Given the description of an element on the screen output the (x, y) to click on. 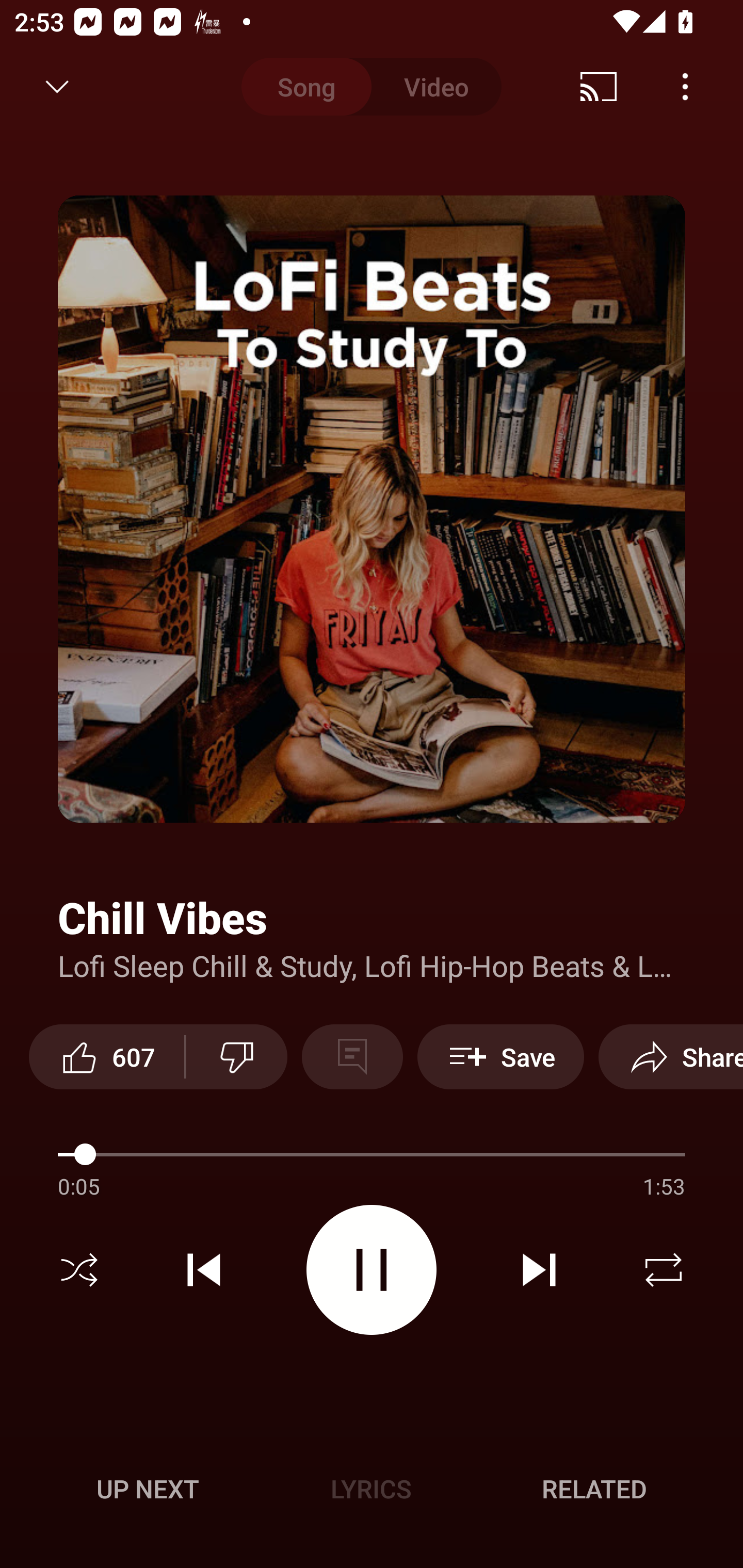
Minimize (57, 86)
Clear search (605, 86)
Voice search (699, 86)
607 like this video along with 607 other people (106, 1056)
Dislike (236, 1056)
Comments disabled. (351, 1056)
Save Save to playlist (500, 1056)
Share (670, 1056)
Pause video (371, 1269)
Shuffle off (79, 1269)
Previous track (203, 1269)
Next track (538, 1269)
Repeat off (663, 1269)
Up next UP NEXT Lyrics LYRICS Related RELATED (371, 1491)
Lyrics LYRICS (370, 1488)
Related RELATED (594, 1488)
